Given the description of an element on the screen output the (x, y) to click on. 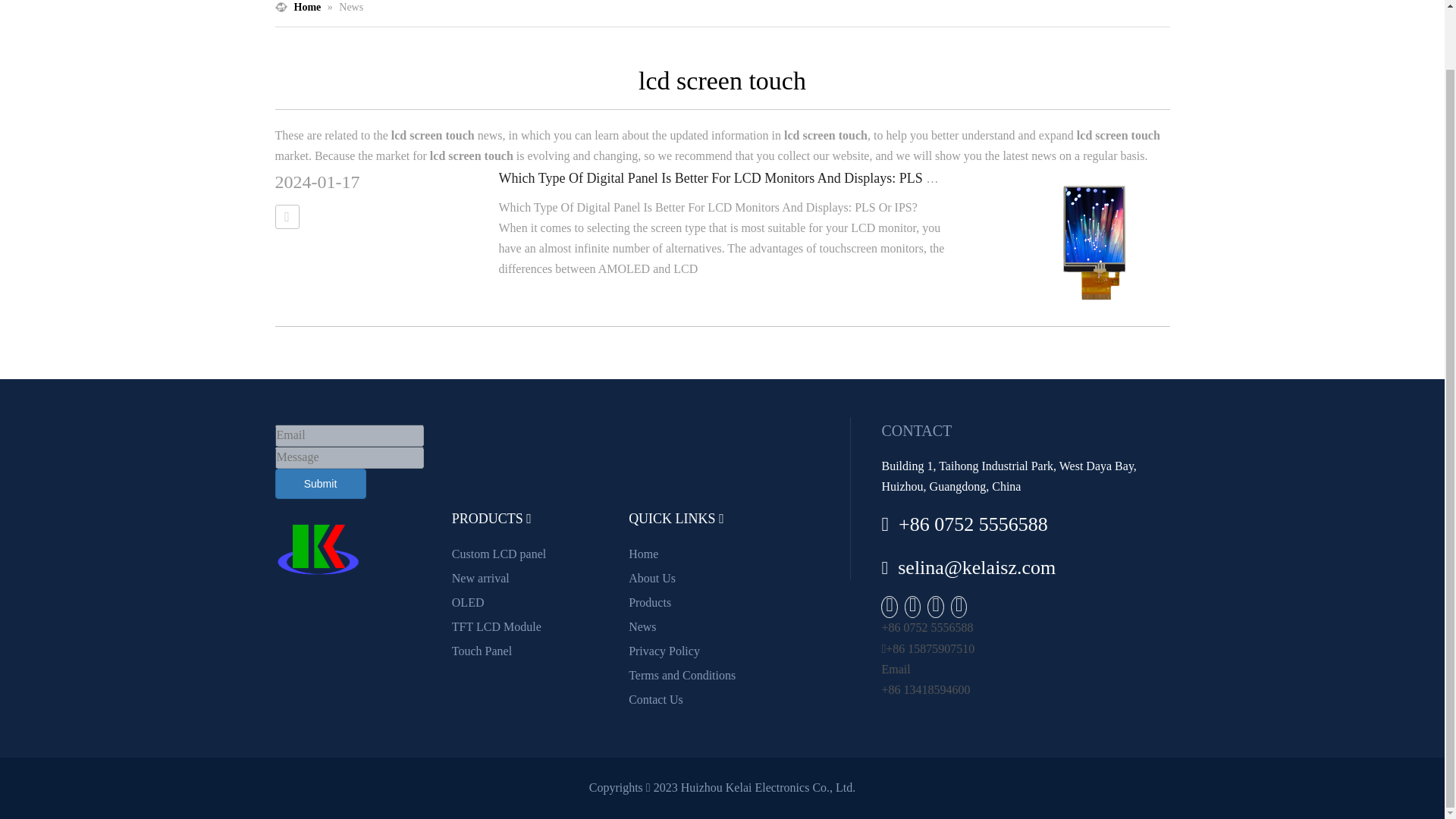
LOGO (317, 549)
News (642, 626)
Privacy Policy (664, 650)
Terms and Conditions (681, 675)
About Us (651, 577)
Home (643, 553)
Custom LCD panel (498, 553)
New arrival (480, 577)
Facebook (890, 606)
Touch Panel (481, 650)
TFT LCD Module (496, 626)
OLED (467, 602)
